Given the description of an element on the screen output the (x, y) to click on. 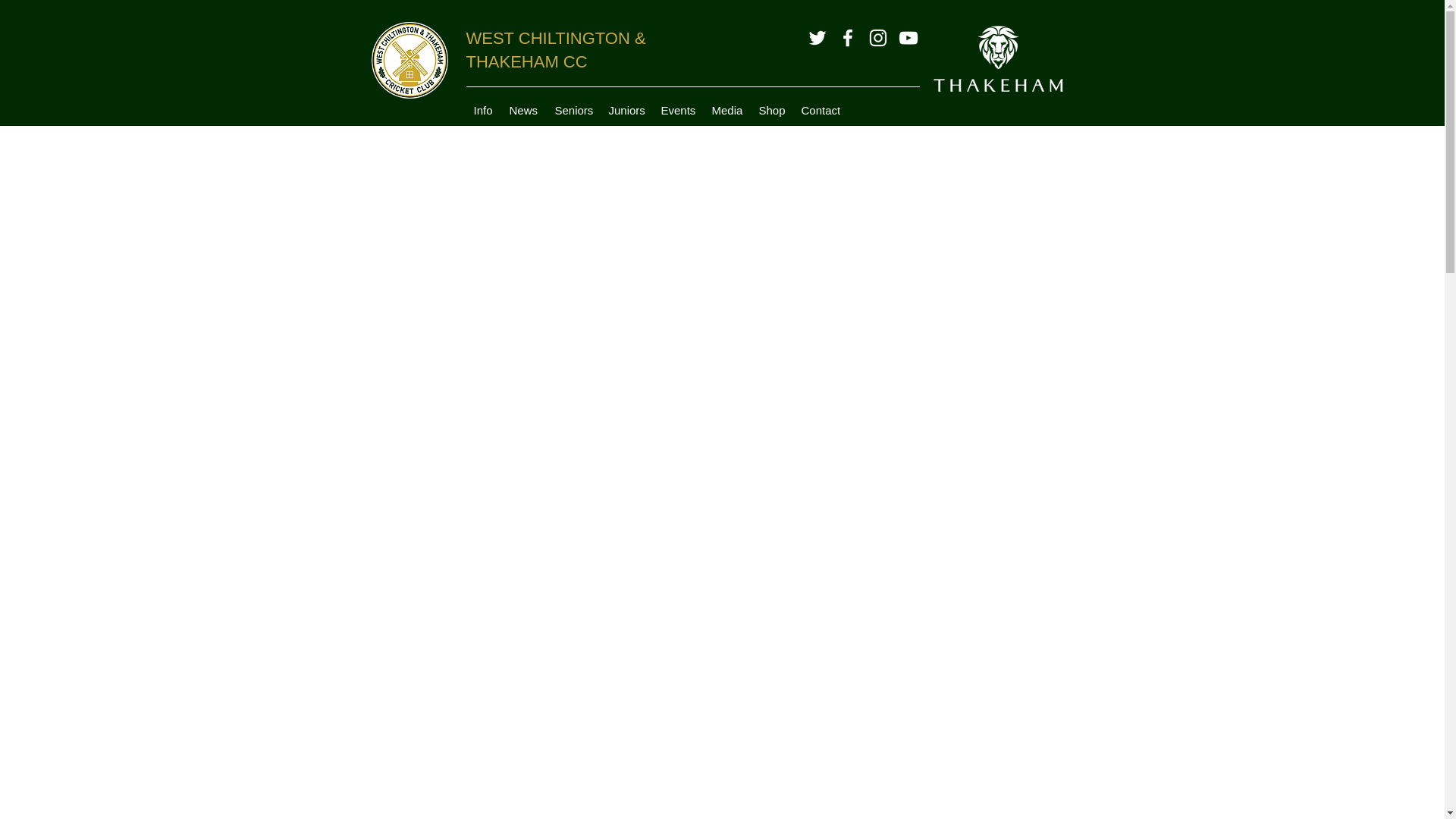
Seniors (574, 110)
Info (482, 110)
Events (678, 110)
Juniors (625, 110)
News (524, 110)
